Given the description of an element on the screen output the (x, y) to click on. 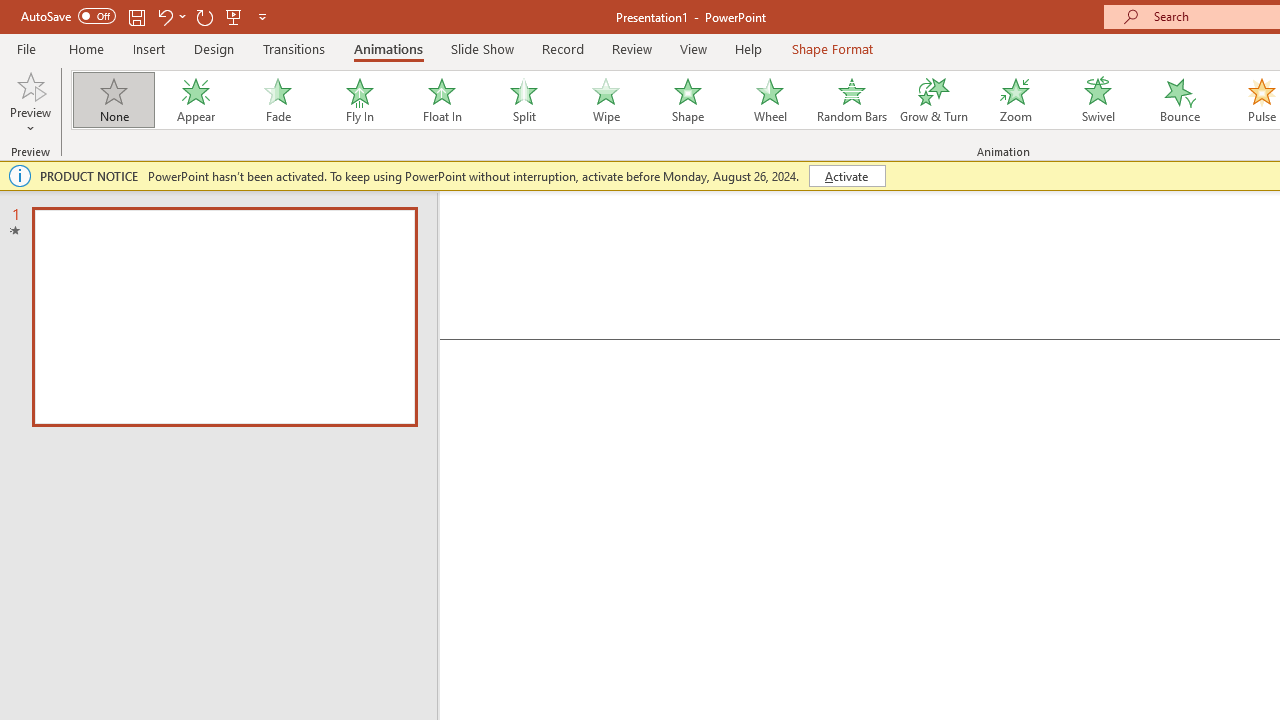
Fly In (359, 100)
Wheel (770, 100)
Split (523, 100)
Swivel (1098, 100)
None (113, 100)
